Given the description of an element on the screen output the (x, y) to click on. 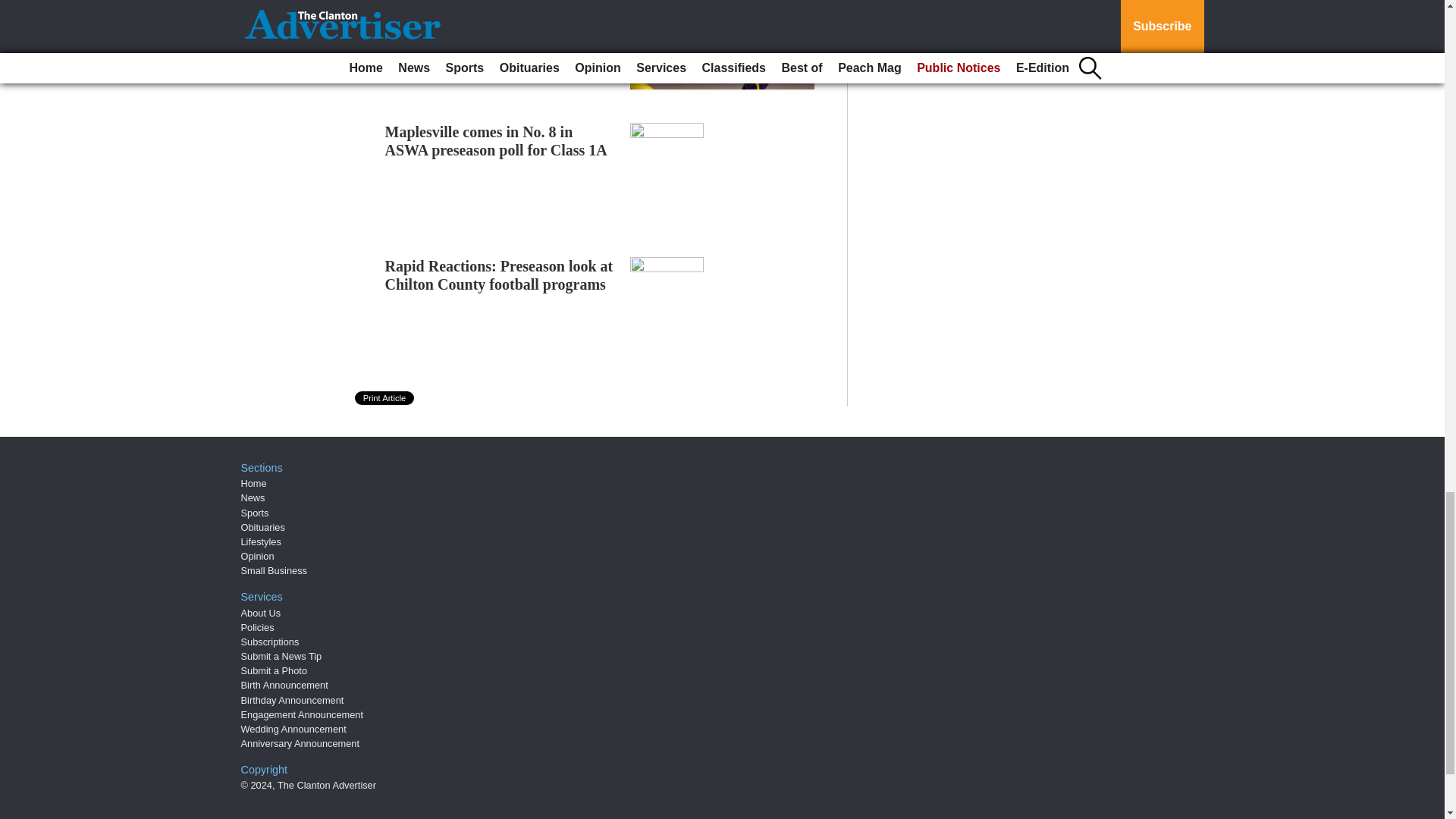
Print Article (384, 397)
